Given the description of an element on the screen output the (x, y) to click on. 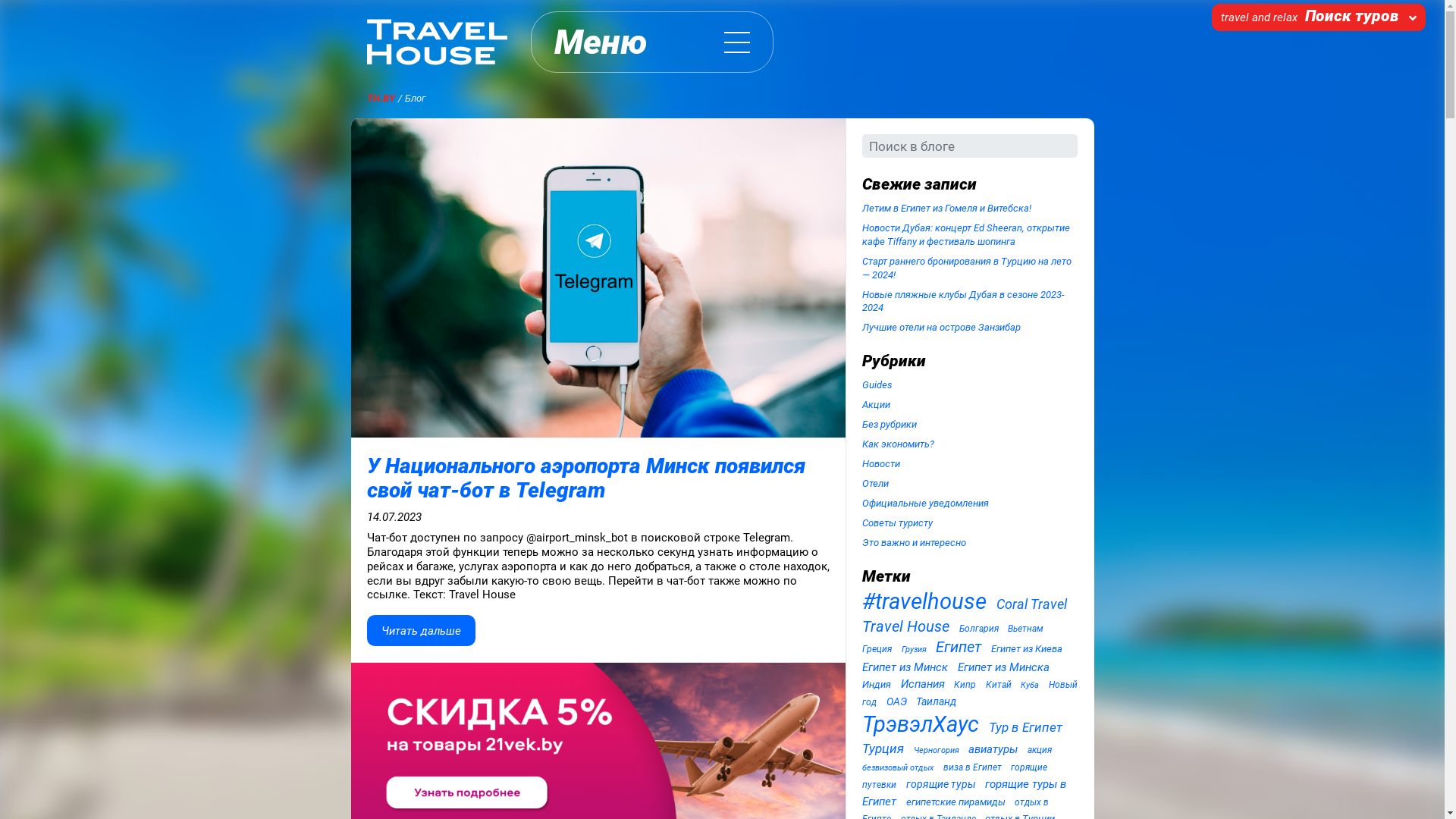
Travel House Element type: text (905, 626)
Coral Travel Element type: text (1031, 603)
Guides Element type: text (877, 384)
#travelhouse Element type: text (924, 601)
TH.BY Element type: text (381, 97)
Travel House Element type: text (437, 41)
